Given the description of an element on the screen output the (x, y) to click on. 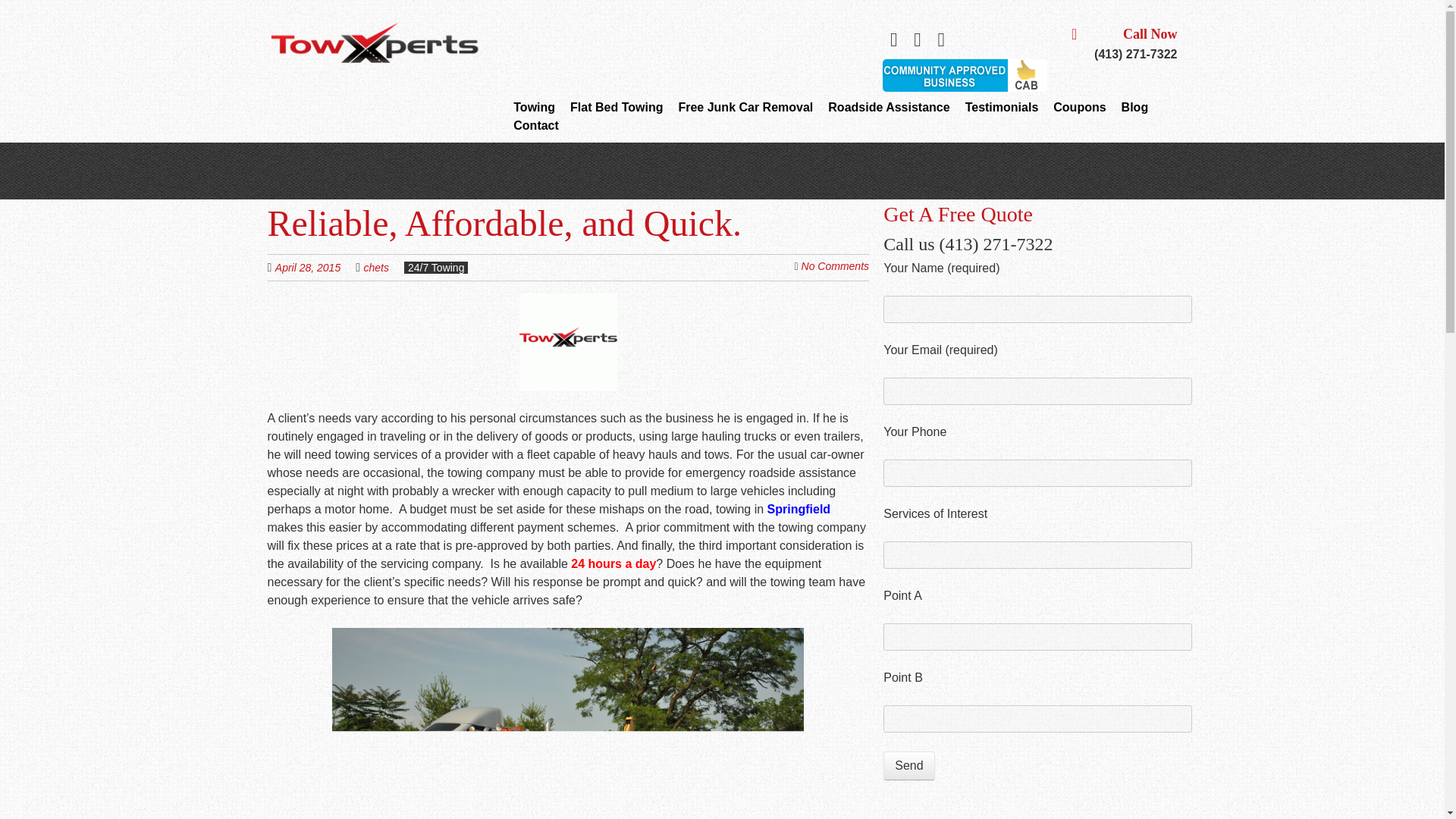
Send (908, 765)
chets (376, 267)
Contact (536, 126)
Skip to content (537, 107)
Follow me on Twitter (893, 39)
No Comments (835, 265)
TowXperts (374, 45)
Testimonials (1002, 107)
Skip to content (537, 107)
Free Junk Car Removal (745, 107)
Blog (1134, 107)
Friend me on Facebook (917, 39)
Roadside Assistance (888, 107)
Send (908, 765)
Flat Bed Towing (616, 107)
